Given the description of an element on the screen output the (x, y) to click on. 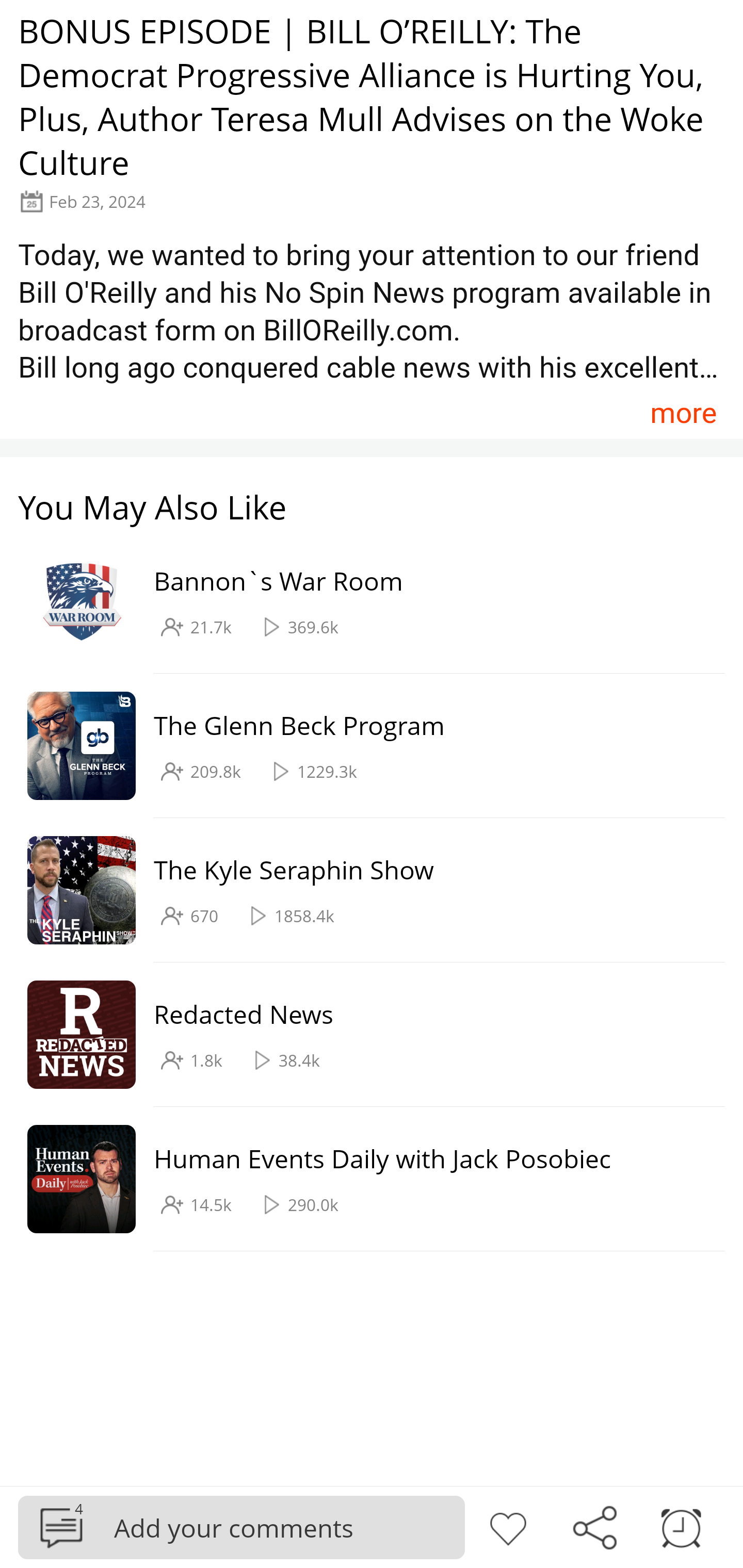
more (682, 412)
Bannon`s War Room 21.7k 369.6k (362, 601)
The Glenn Beck Program 209.8k 1229.3k (362, 746)
The Kyle Seraphin Show 670 1858.4k (362, 890)
Redacted News 1.8k 38.4k (362, 1034)
Human Events Daily with Jack Posobiec 14.5k 290.0k (362, 1179)
Like (508, 1526)
Share (594, 1526)
Sleep timer (681, 1526)
Podbean 4 Add your comments (241, 1526)
